Given the description of an element on the screen output the (x, y) to click on. 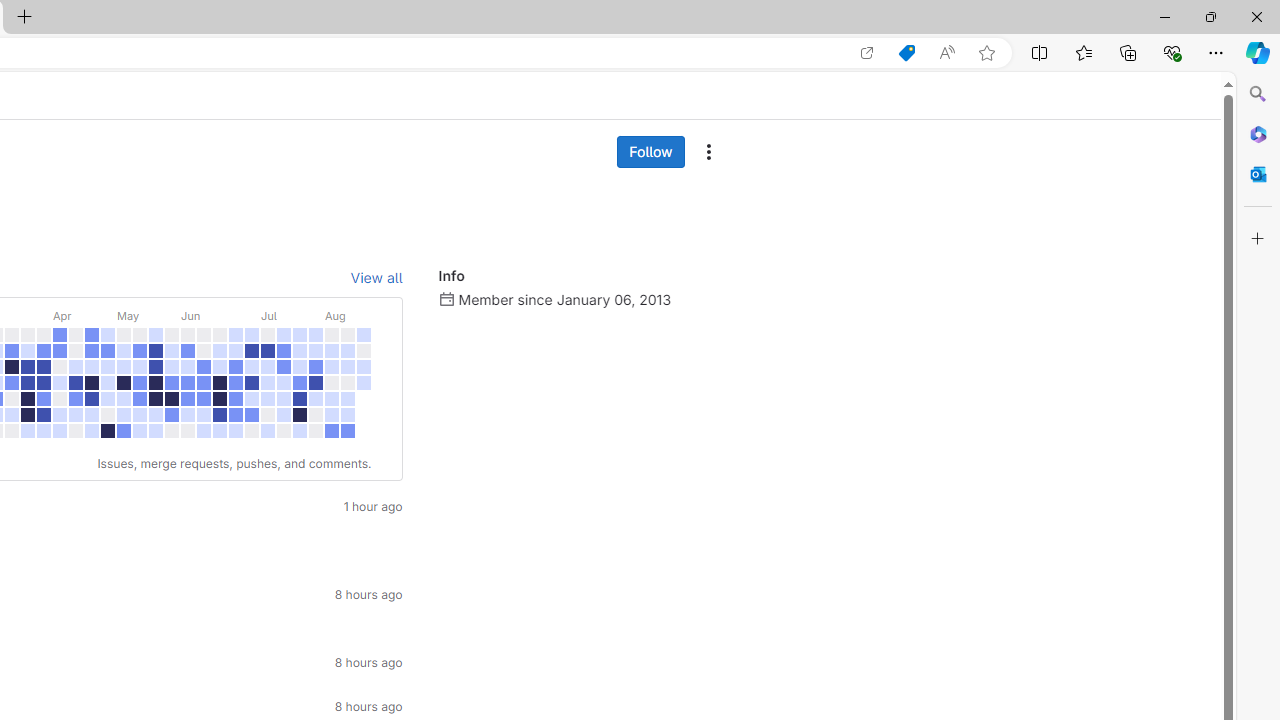
Shopping in Microsoft Edge (906, 53)
